Given the description of an element on the screen output the (x, y) to click on. 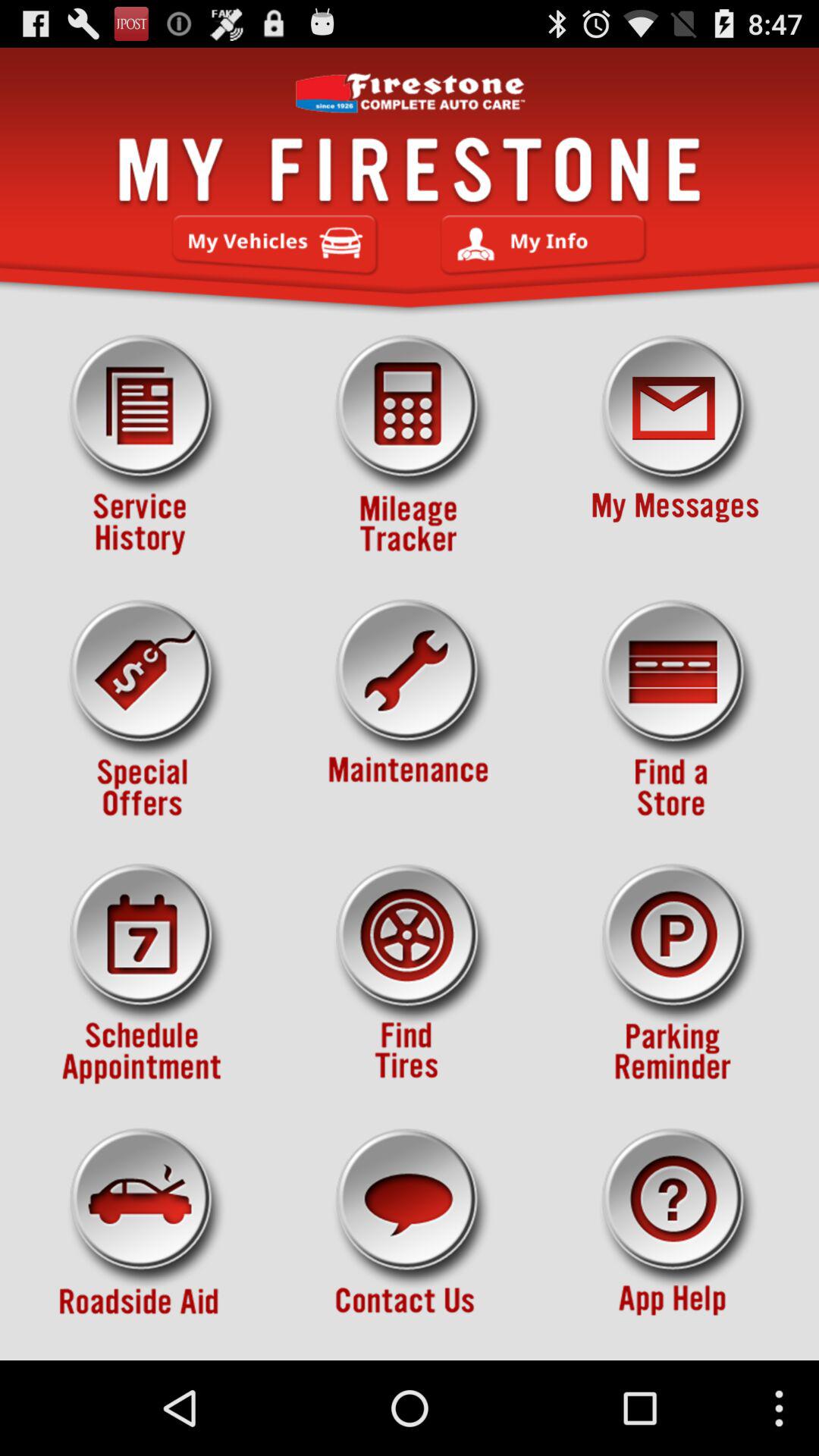
schedule appointment (143, 974)
